Given the description of an element on the screen output the (x, y) to click on. 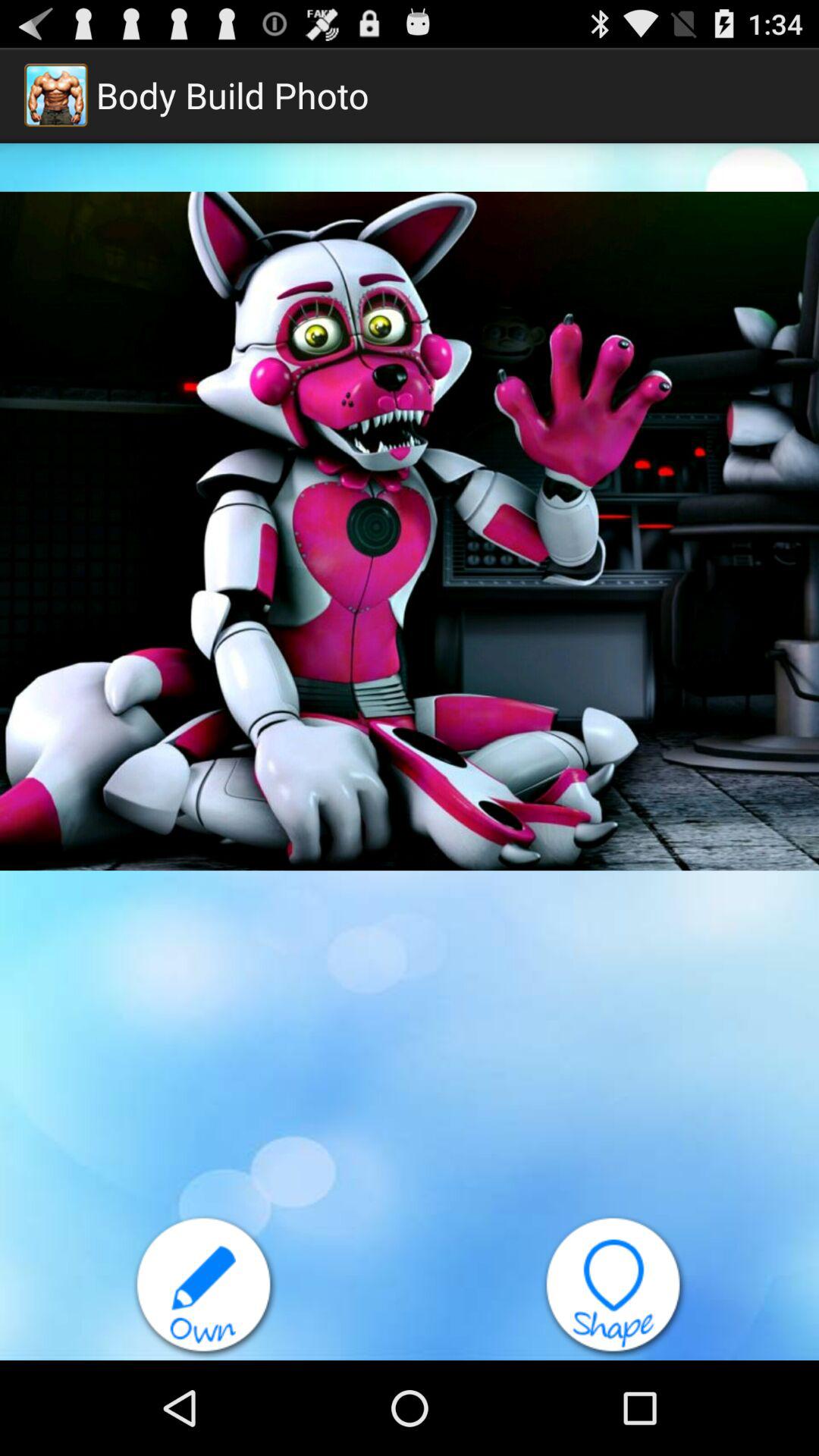
turn on icon at the bottom right corner (614, 1287)
